Given the description of an element on the screen output the (x, y) to click on. 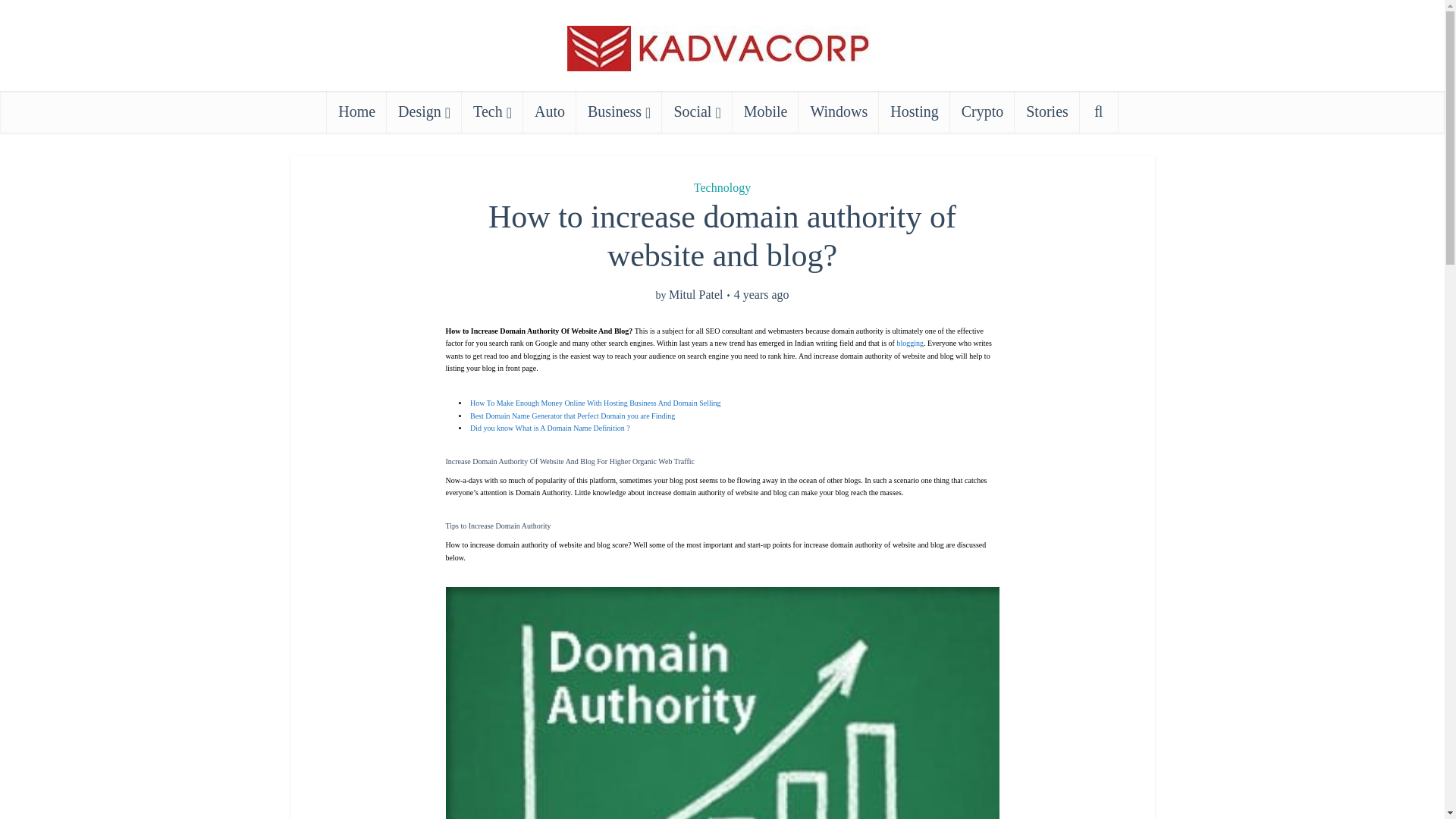
Mitul Patel (695, 295)
Home (356, 111)
Technology (722, 187)
Business (619, 111)
Tech (491, 111)
Crypto (982, 111)
Mobile (765, 111)
Hosting (914, 111)
